Given the description of an element on the screen output the (x, y) to click on. 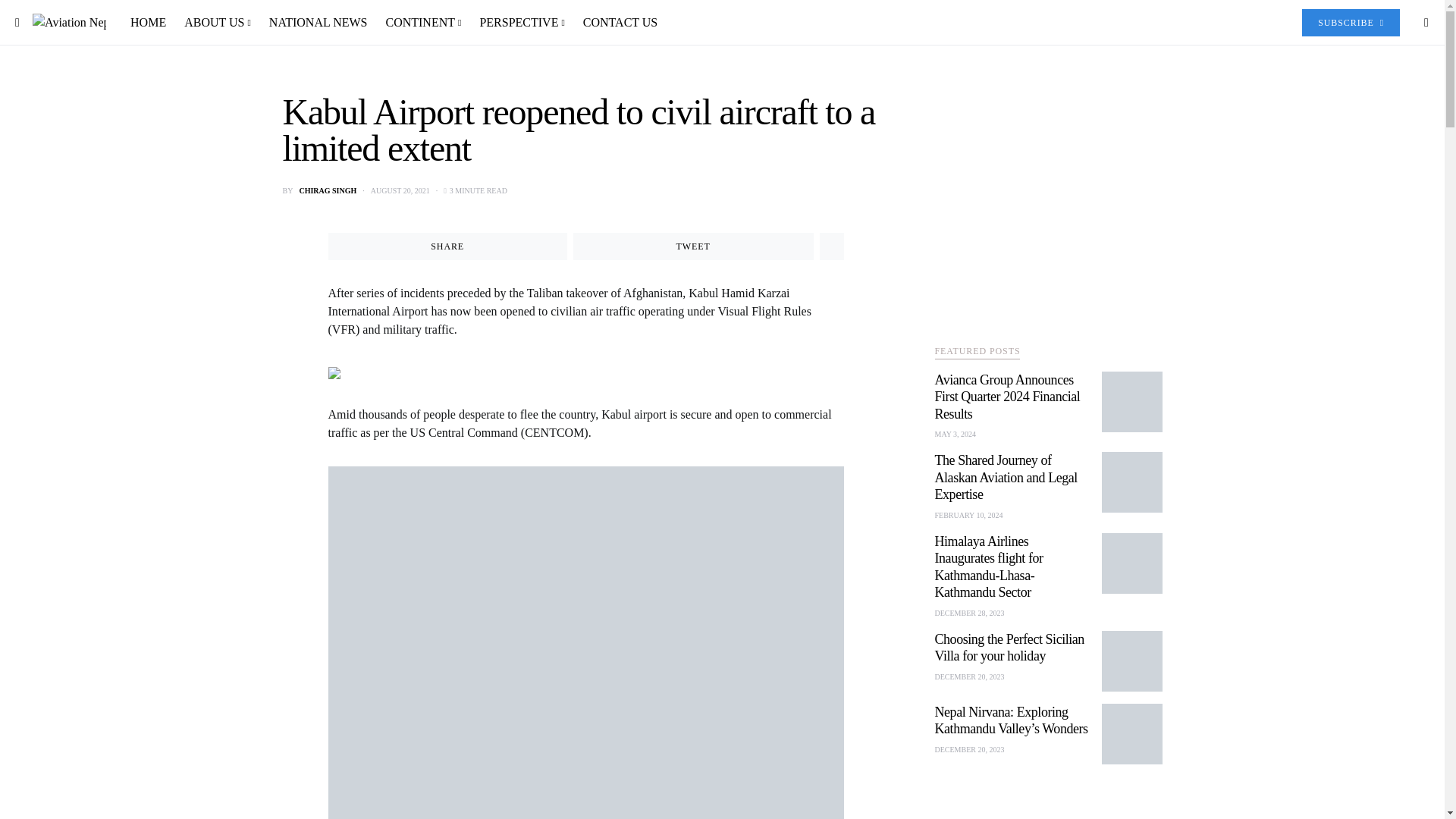
ABOUT US (217, 22)
View all posts by Chirag Singh (327, 190)
CHIRAG SINGH (327, 190)
CONTINENT (422, 22)
HOME (152, 22)
CONTACT US (615, 22)
PERSPECTIVE (521, 22)
SUBSCRIBE (1350, 22)
NATIONAL NEWS (318, 22)
